Given the description of an element on the screen output the (x, y) to click on. 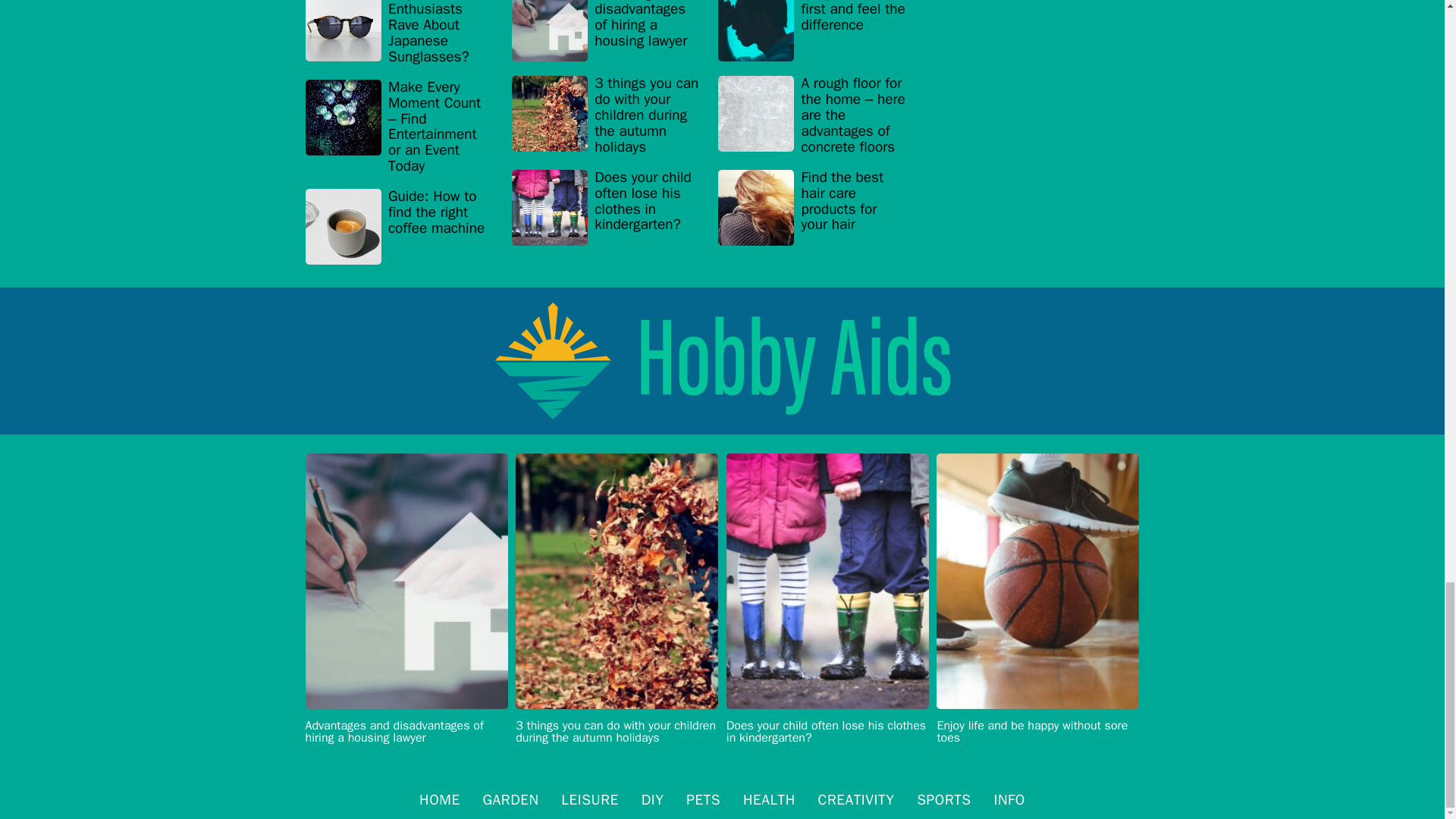
Does your child often lose his clothes in kindergarten? (606, 207)
Guide: How to find the right coffee machine (398, 226)
Find the best hair care products for your hair (811, 207)
Advantages and disadvantages of hiring a housing lawyer (606, 34)
Why Do Fashion Enthusiasts Rave About Japanese Sunglasses? (398, 36)
Put your health first and feel the difference (811, 34)
